Given the description of an element on the screen output the (x, y) to click on. 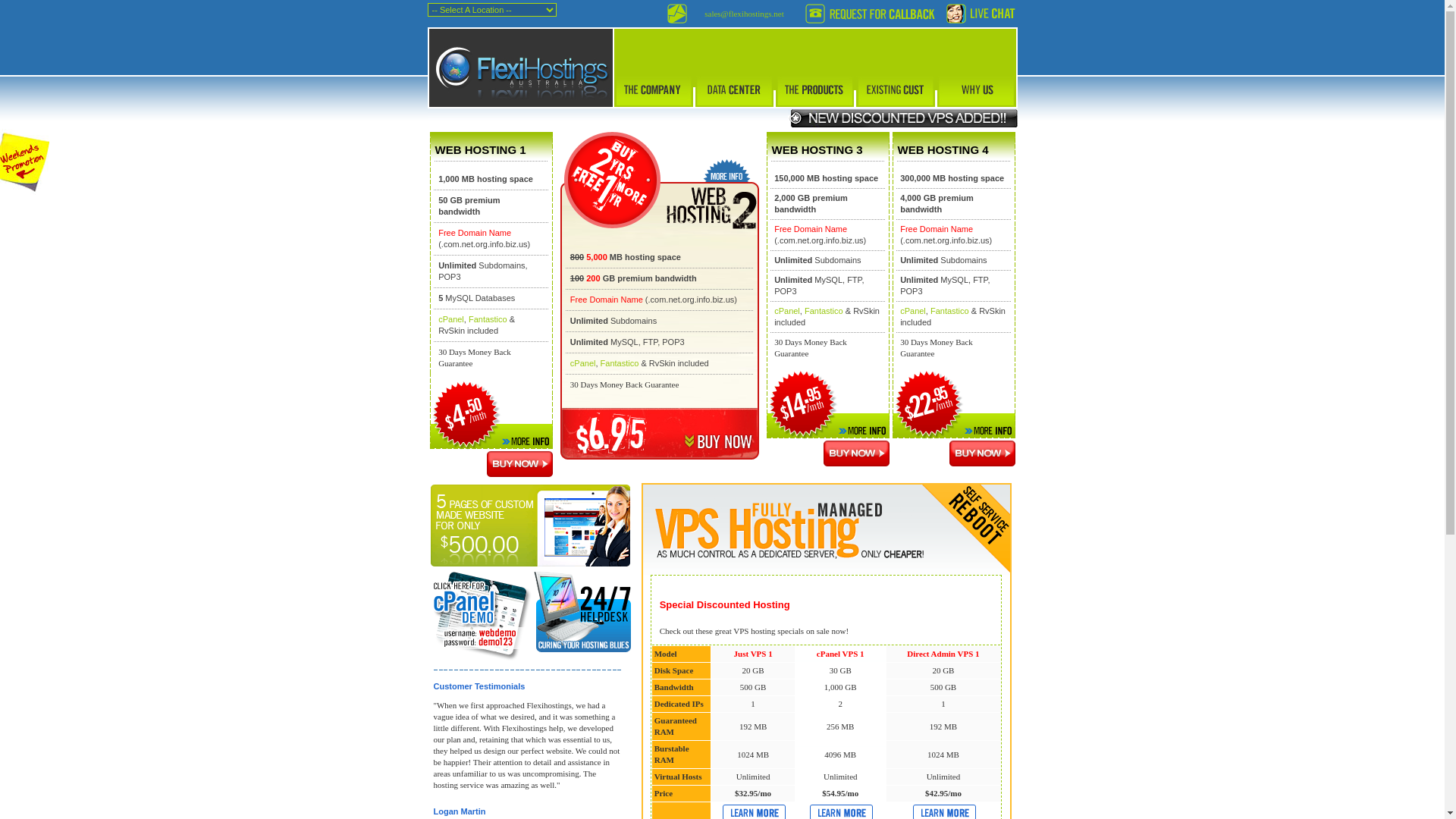
Fantastico Element type: text (949, 310)
cPanel Element type: text (451, 318)
Fantastico Element type: text (823, 310)
Fantastico Element type: text (487, 318)
sales@flexihostings.net Element type: text (744, 13)
cPanel Element type: text (787, 310)
cPanel Element type: text (583, 362)
cPanel Element type: text (912, 310)
Fantastico Element type: text (619, 362)
